Given the description of an element on the screen output the (x, y) to click on. 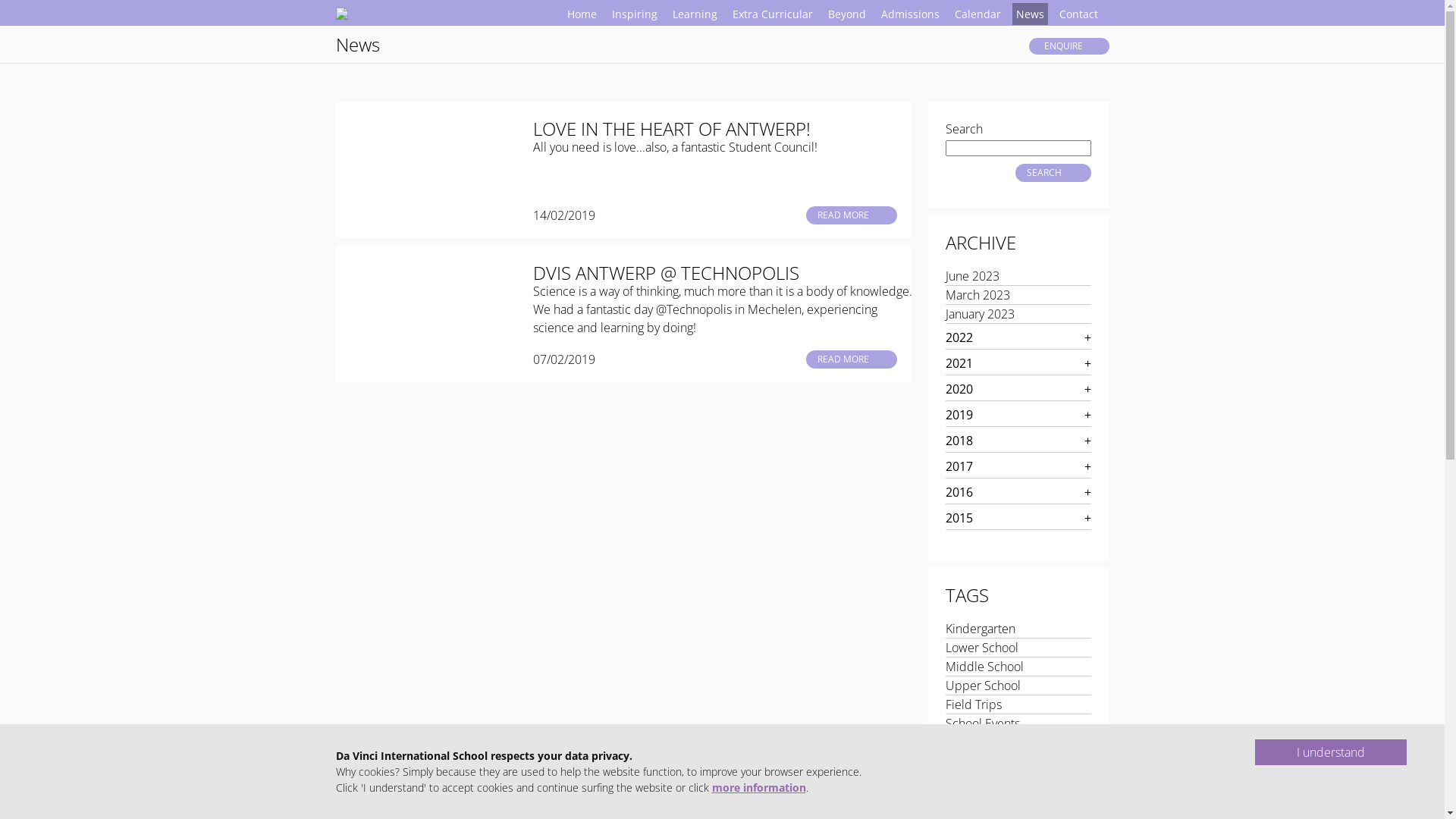
Upper School Element type: text (981, 685)
March 2023 Element type: text (976, 294)
more information Element type: text (758, 787)
READ MORE Element type: text (850, 215)
Field Trips Element type: text (972, 704)
News Element type: text (1029, 14)
Beyond Element type: text (846, 14)
News Element type: text (357, 44)
Middle School Element type: text (983, 666)
Inspiring Element type: text (634, 14)
Kindergarten Element type: text (979, 628)
June 2023 Element type: text (971, 275)
Home Element type: text (580, 14)
ENQUIRE Element type: text (1068, 45)
Calendar Element type: text (977, 14)
Lower School Element type: text (980, 647)
READ MORE Element type: text (850, 359)
Admissions Element type: text (909, 14)
Extra Curricular Element type: text (771, 14)
1 Element type: text (342, 810)
Learning Element type: text (694, 14)
Contact Element type: text (1078, 14)
January 2023 Element type: text (978, 313)
School Events Element type: text (981, 723)
Staff Element type: text (956, 742)
